Given the description of an element on the screen output the (x, y) to click on. 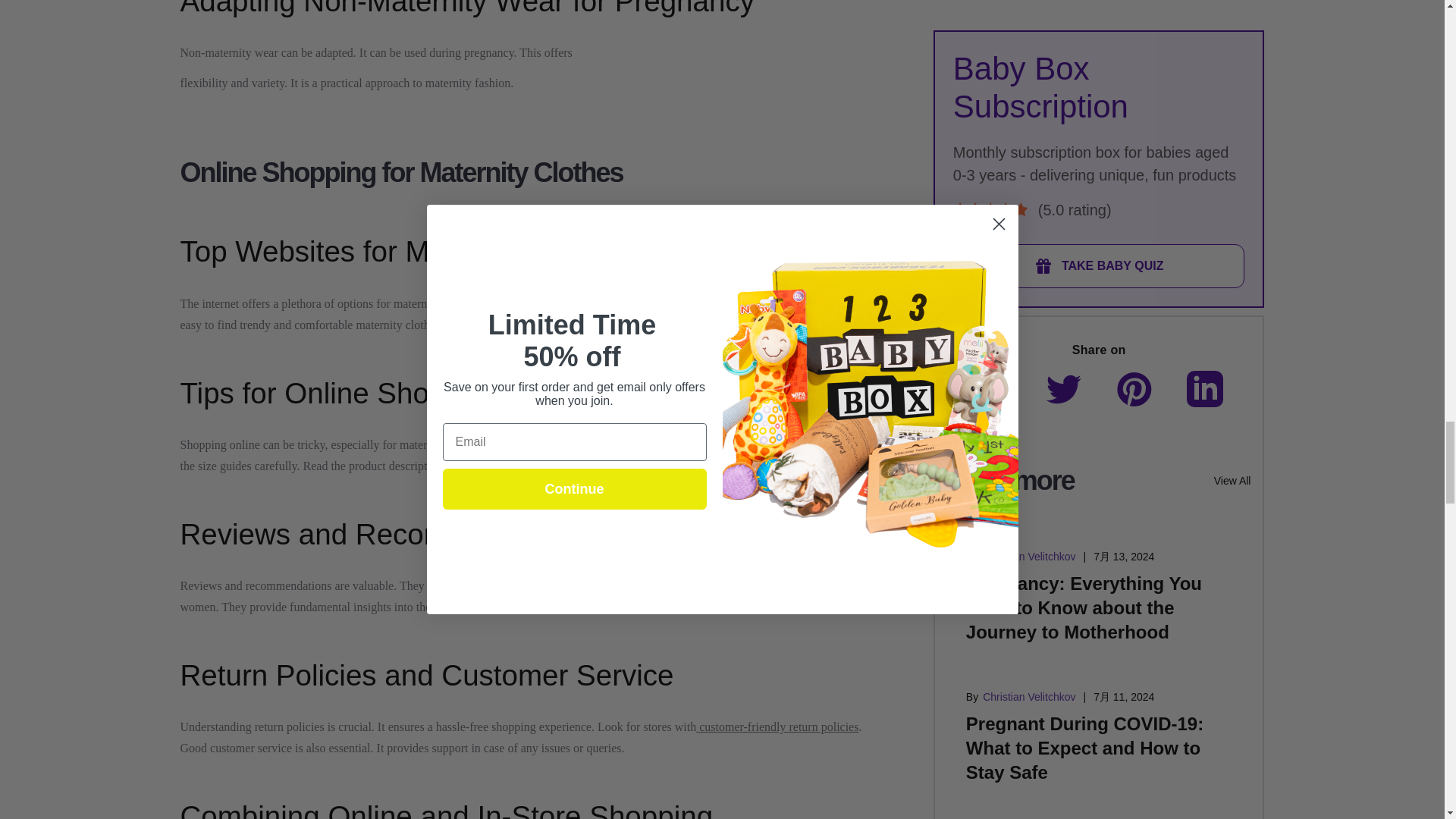
customer-friendly return policies (777, 726)
